Given the description of an element on the screen output the (x, y) to click on. 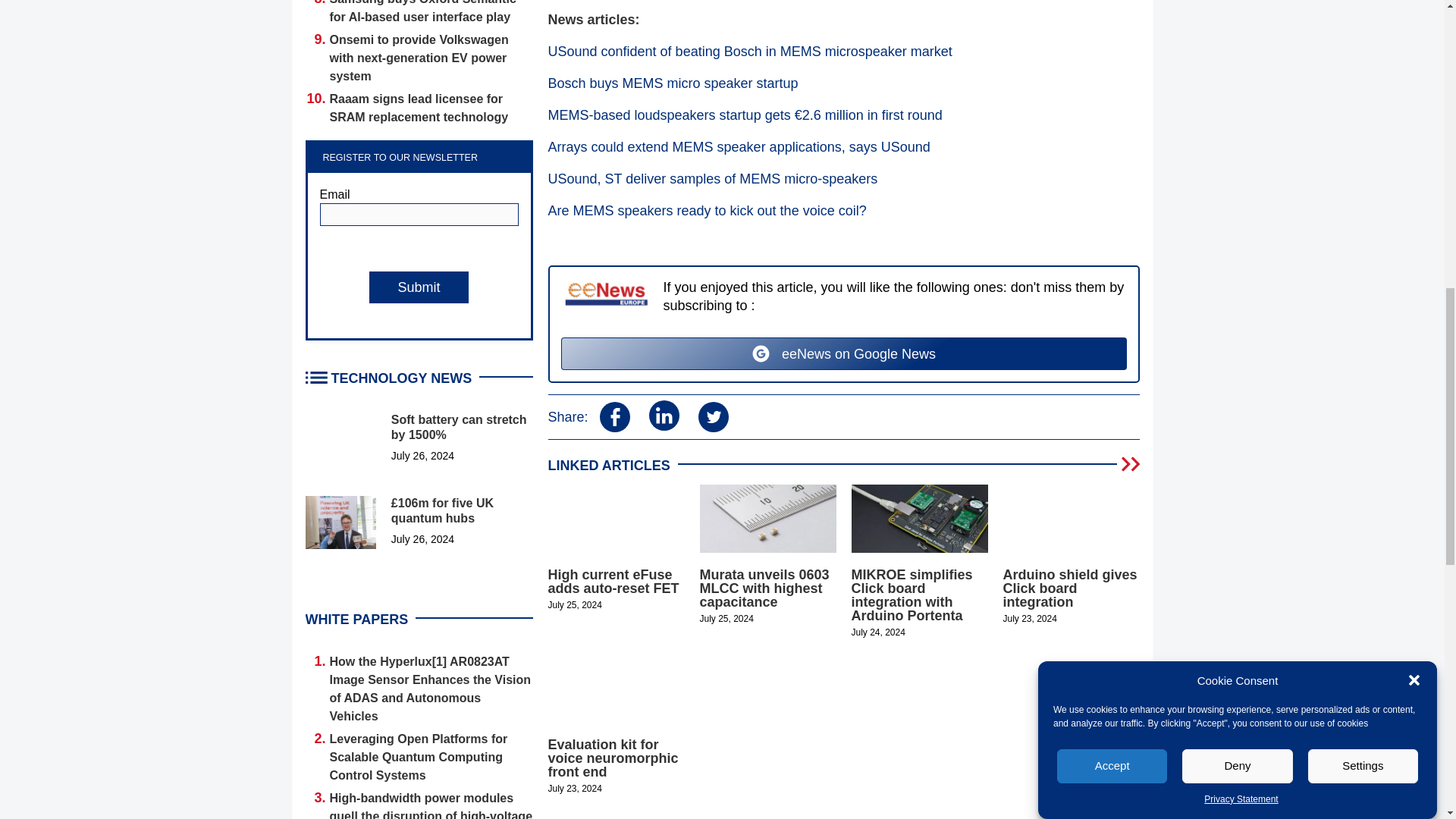
Privacy Statement (1241, 119)
Accept (1112, 265)
Settings (1362, 220)
Deny (1237, 235)
Submit (418, 287)
